Given the description of an element on the screen output the (x, y) to click on. 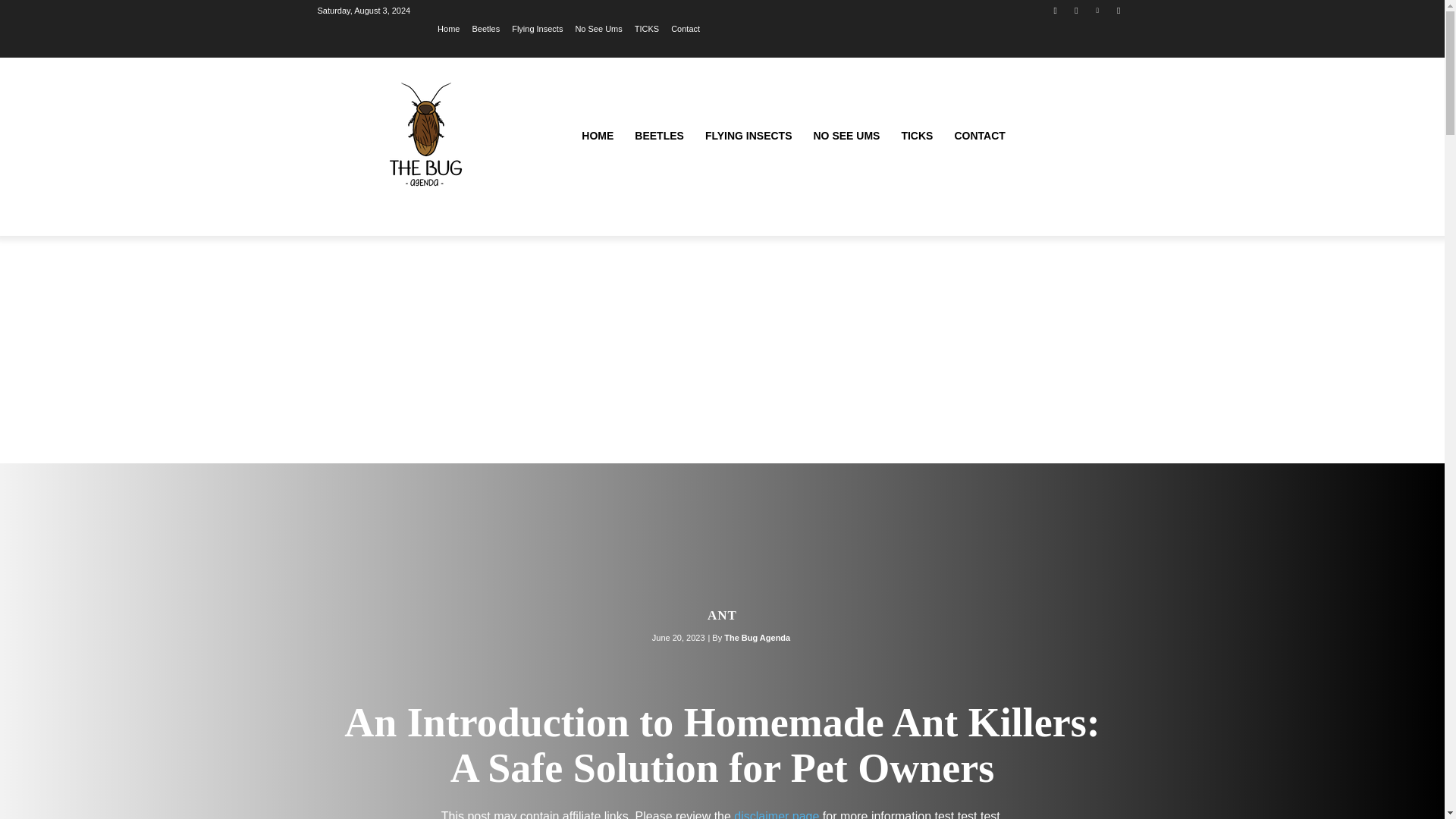
Twitter (1117, 9)
HOME (597, 135)
ANT (721, 615)
disclaimer page (775, 814)
TICKS (646, 28)
Flying Insects (537, 28)
BEETLES (659, 135)
No See Ums (598, 28)
FLYING INSECTS (748, 135)
The Bug Agenda (756, 637)
Beetles (485, 28)
Facebook (1055, 9)
Home (449, 28)
Instagram (1075, 9)
TICKS (916, 135)
